Given the description of an element on the screen output the (x, y) to click on. 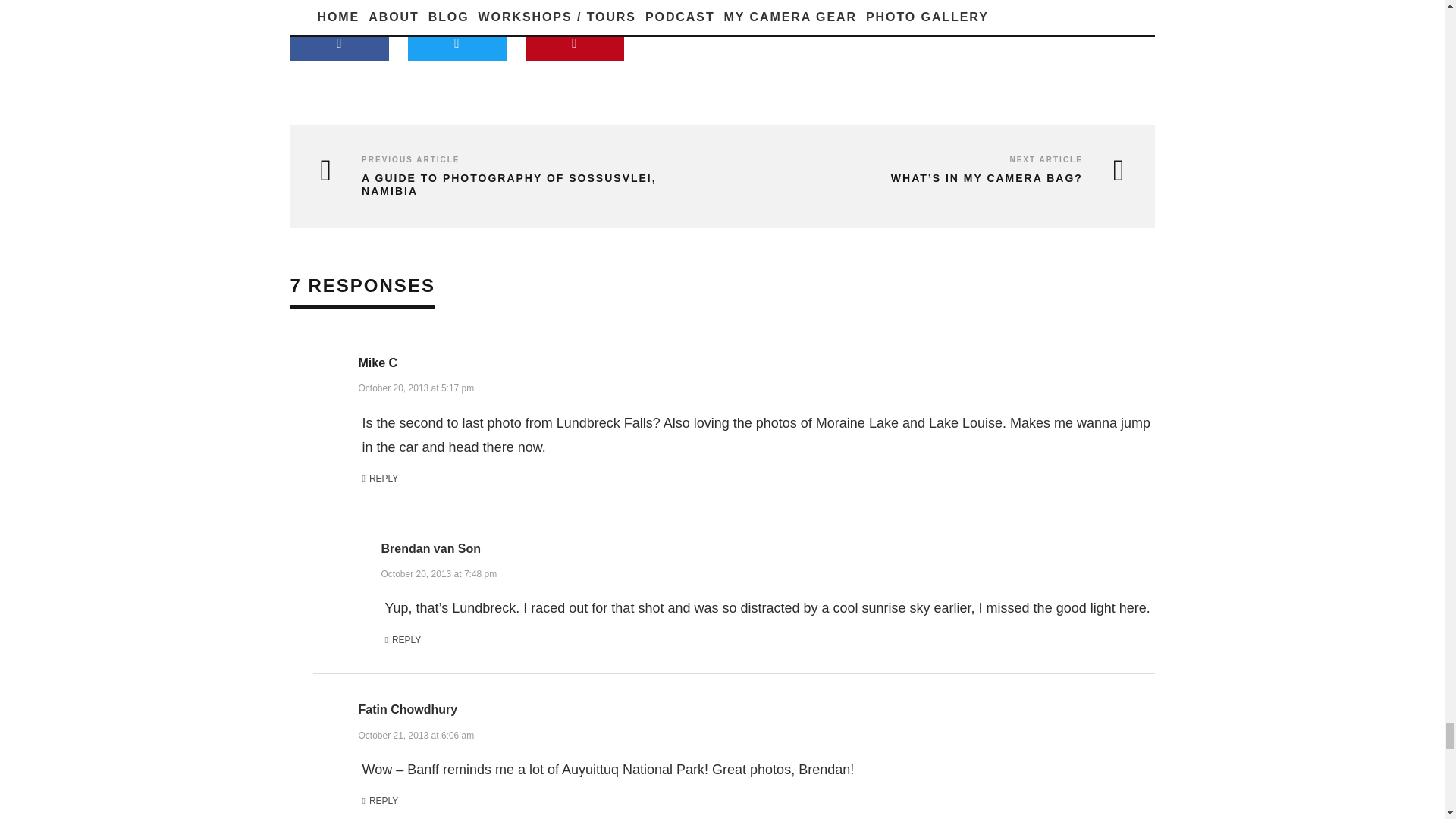
REPLY (380, 801)
A GUIDE TO PHOTOGRAPHY OF SOSSUSVLEI, NAMIBIA (509, 184)
REPLY (403, 640)
October 20, 2013 at 5:17 pm (416, 386)
REPLY (380, 478)
Mike C (377, 362)
October 21, 2013 at 6:06 am (416, 734)
PREVIOUS ARTICLE (410, 159)
October 20, 2013 at 7:48 pm (438, 572)
NEXT ARTICLE (1045, 159)
